Given the description of an element on the screen output the (x, y) to click on. 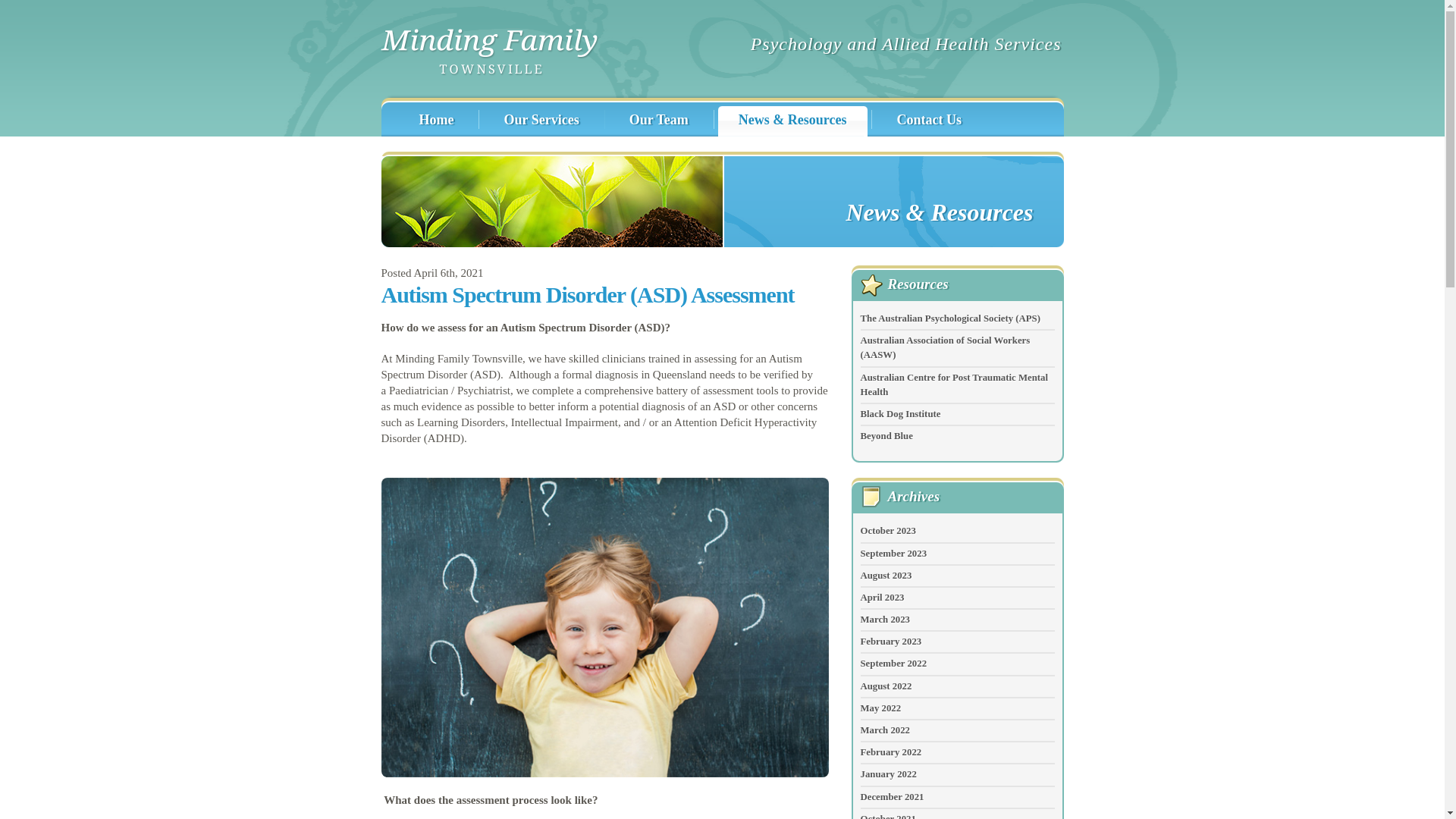
August 2023 Element type: text (885, 575)
January 2022 Element type: text (887, 773)
March 2023 Element type: text (884, 619)
September 2022 Element type: text (892, 663)
Our Services Element type: text (539, 121)
Australian Centre for Post Traumatic Mental Health Element type: text (953, 384)
May 2022 Element type: text (879, 707)
Minding Family Townsville Element type: hover (489, 52)
Australian Association of Social Workers (AASW) Element type: text (944, 347)
Beyond Blue Element type: text (885, 435)
Home Element type: text (435, 121)
August 2022 Element type: text (885, 685)
News & Resources Element type: text (791, 121)
October 2023 Element type: text (887, 530)
March 2022 Element type: text (884, 729)
February 2022 Element type: text (890, 751)
December 2021 Element type: text (891, 796)
Our Team Element type: text (657, 121)
The Australian Psychological Society (APS) Element type: text (949, 318)
April 2023 Element type: text (881, 597)
Contact Us Element type: text (927, 121)
September 2023 Element type: text (892, 552)
February 2023 Element type: text (890, 641)
Black Dog Institute Element type: text (899, 413)
